Given the description of an element on the screen output the (x, y) to click on. 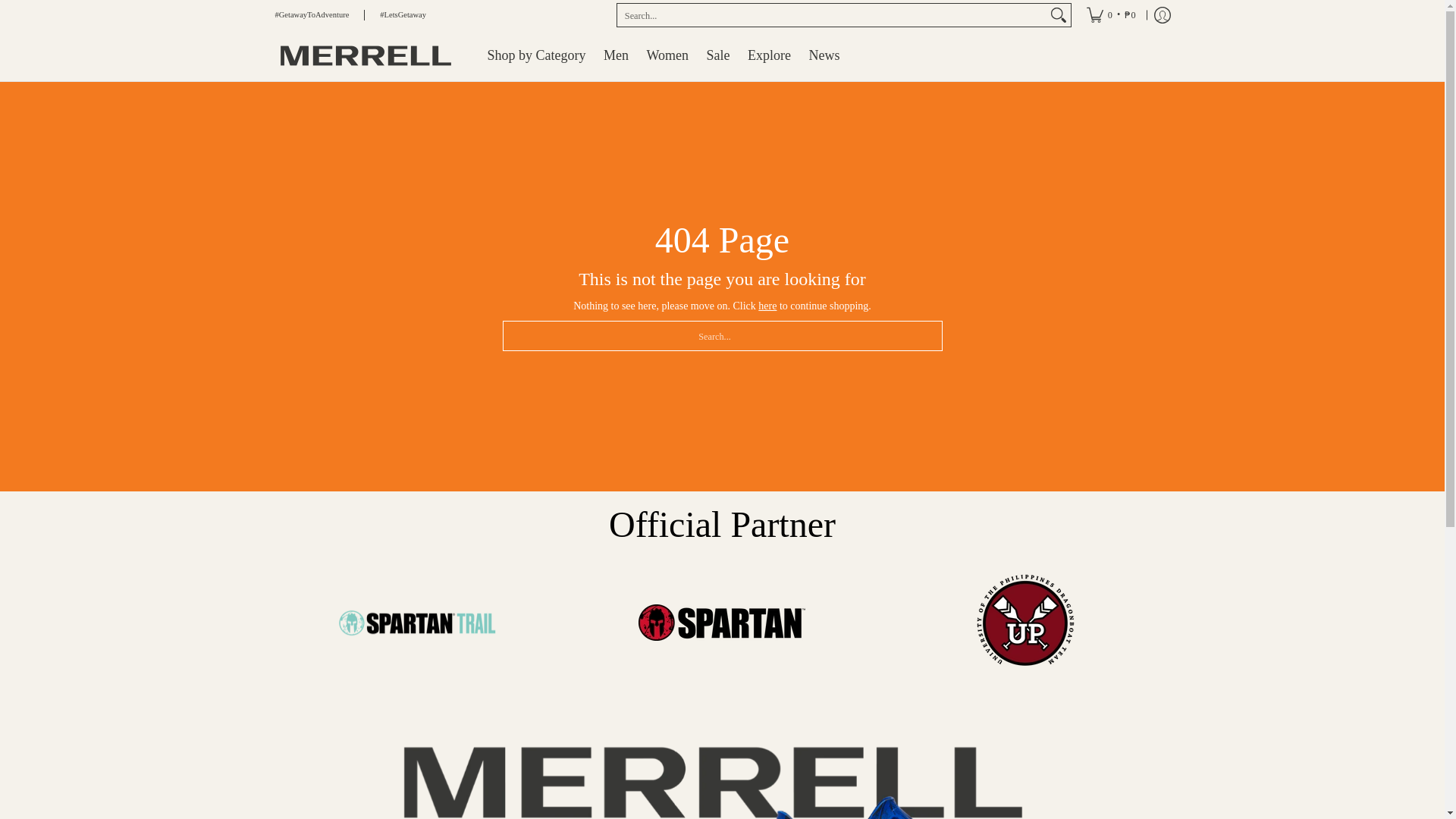
Log in (1161, 15)
Merrell Online Store (369, 55)
Women (667, 55)
Shop by Category (535, 55)
Shop by Category (535, 55)
Cart (1111, 15)
